Given the description of an element on the screen output the (x, y) to click on. 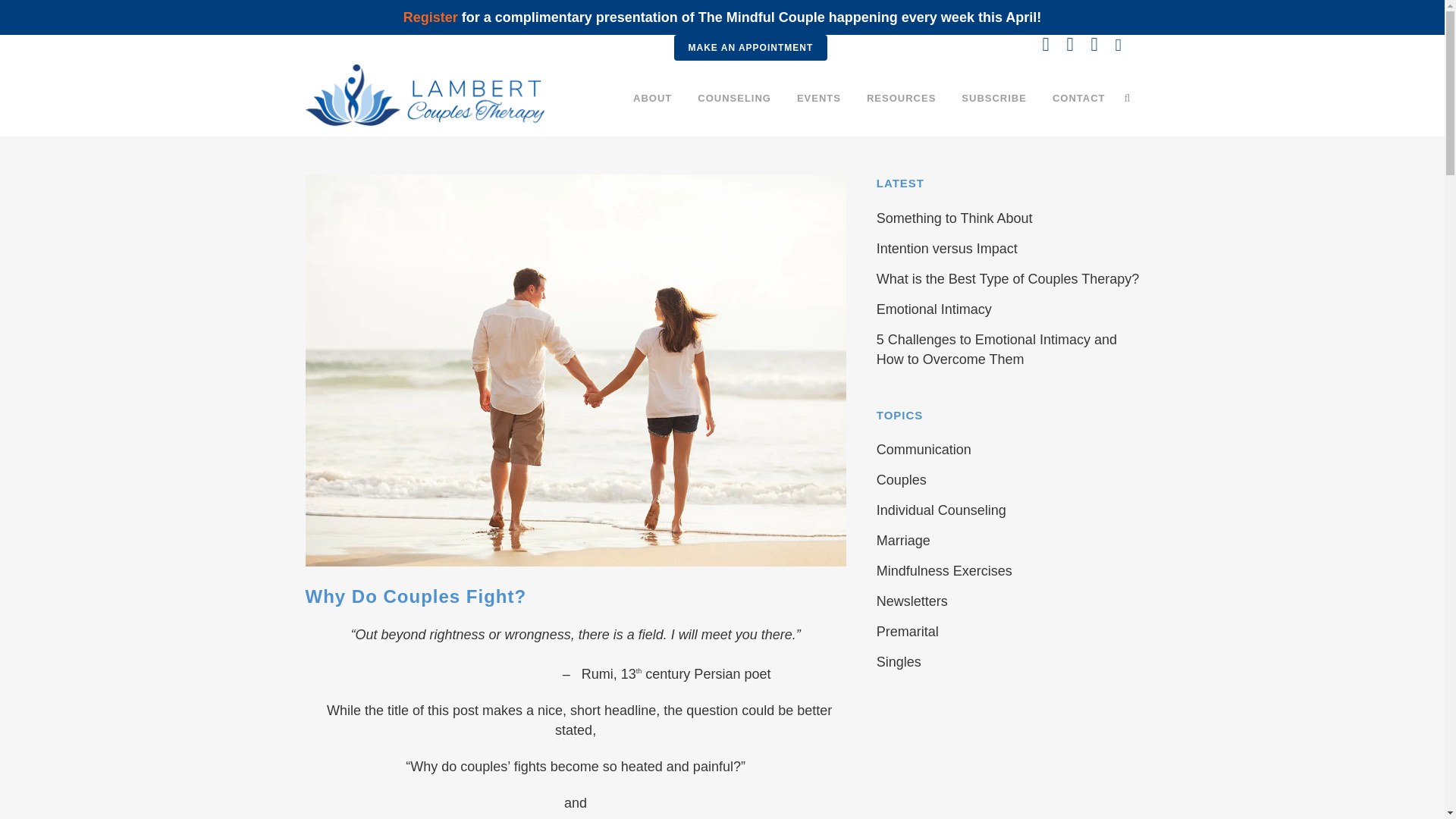
EVENTS (818, 98)
COUNSELING (734, 98)
CONTACT (1078, 98)
MAKE AN APPOINTMENT (749, 47)
Register (430, 17)
SUBSCRIBE (994, 98)
RESOURCES (901, 98)
